Given the description of an element on the screen output the (x, y) to click on. 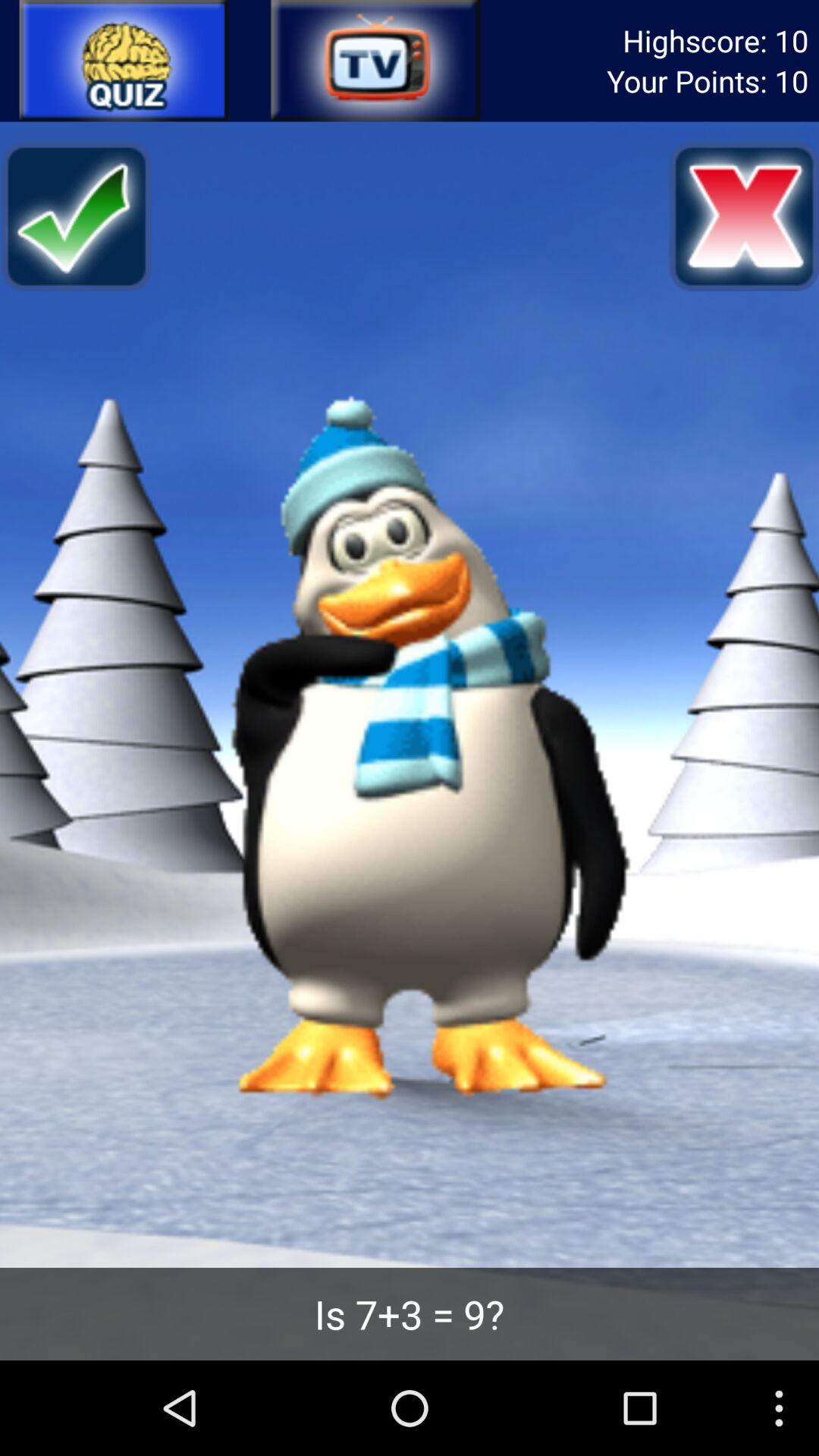
to select tv option (373, 60)
